Given the description of an element on the screen output the (x, y) to click on. 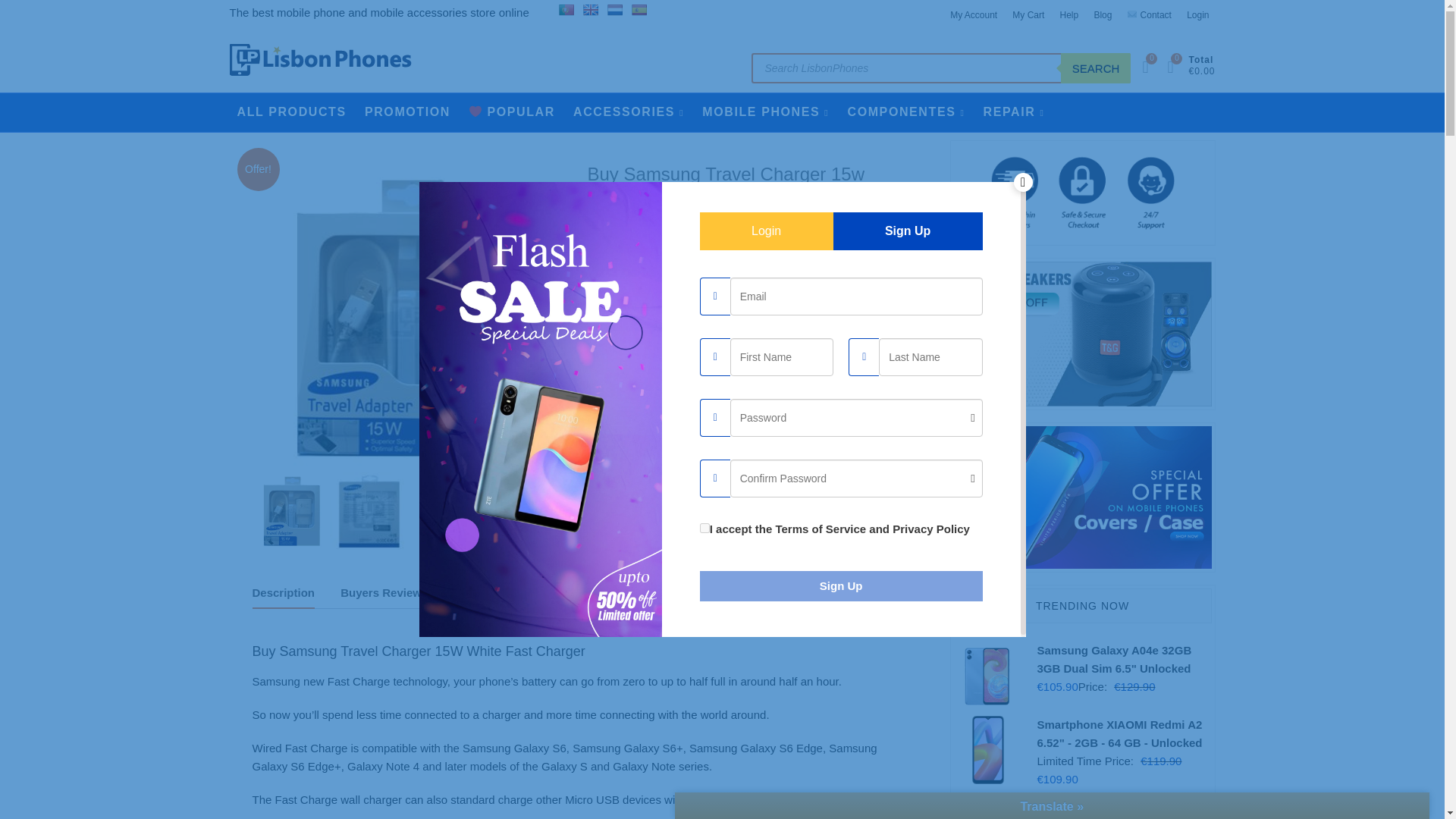
My Cart (1027, 15)
English (590, 9)
POPULAR (511, 112)
Blog (1102, 15)
ACCESSORIES (628, 112)
SEARCH (1096, 68)
Help (1069, 15)
ALL PRODUCTS (290, 112)
My Account (973, 15)
Dutch (615, 9)
Portuguese (566, 9)
Spanish (638, 9)
1 (606, 357)
PROMOTION (407, 112)
